Given the description of an element on the screen output the (x, y) to click on. 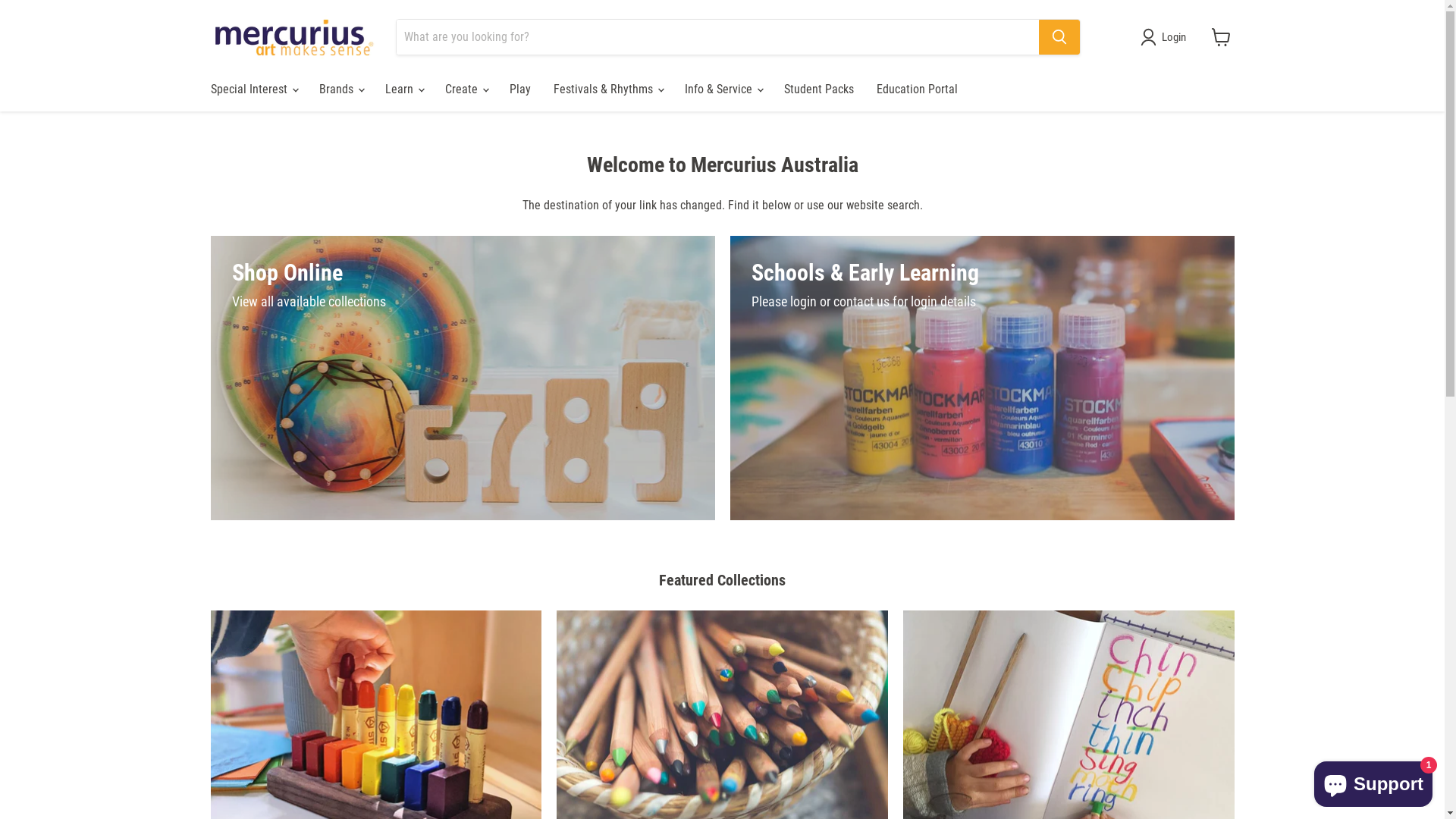
Login Element type: text (1166, 37)
Shopify online store chat Element type: hover (1373, 780)
Play Element type: text (519, 89)
Education Portal Element type: text (916, 89)
Shop Online
View all available collections Element type: text (462, 377)
View cart Element type: text (1221, 36)
Student Packs Element type: text (817, 89)
